Given the description of an element on the screen output the (x, y) to click on. 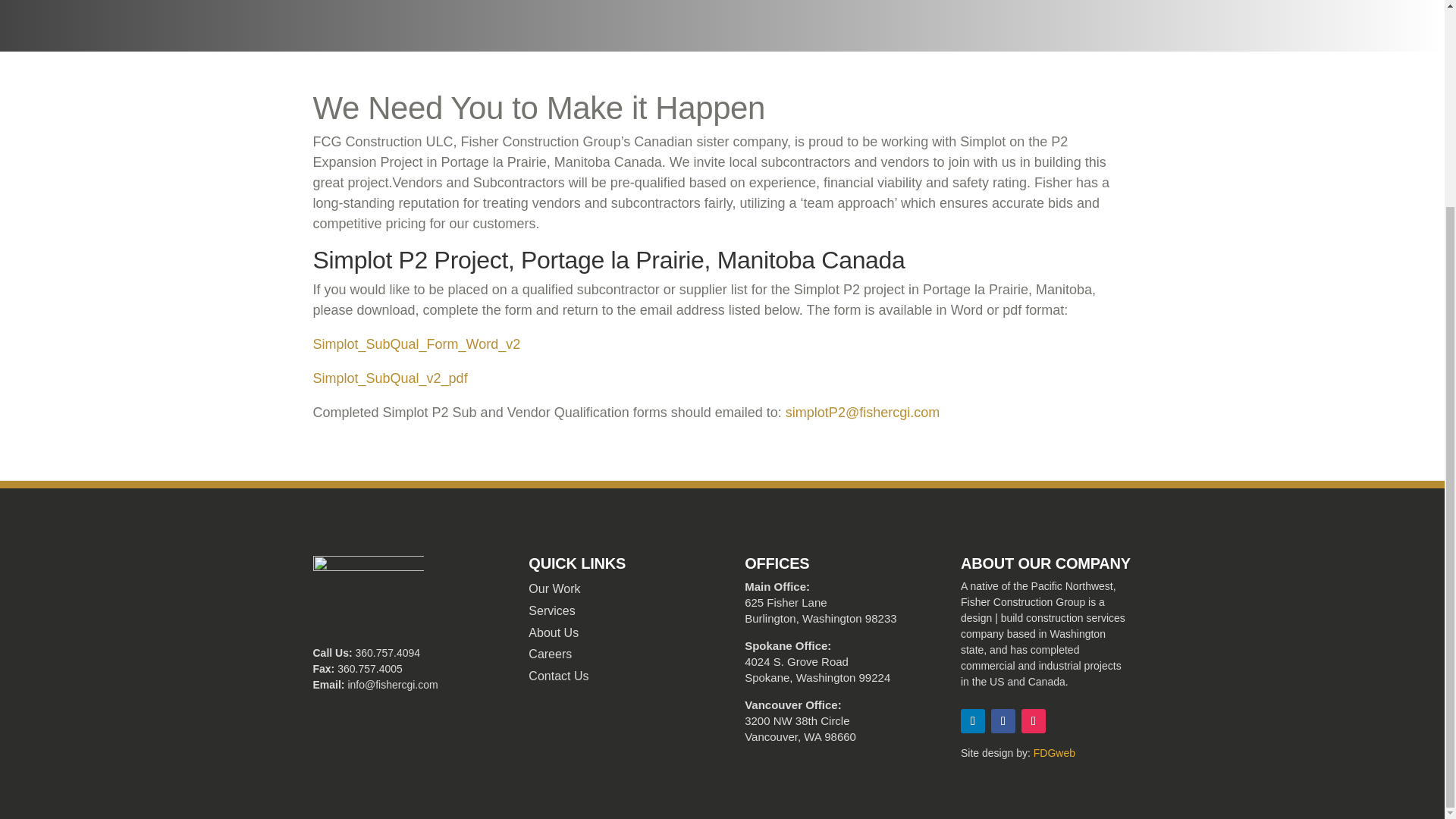
Follow on Facebook (1002, 721)
Follow on Instagram (1033, 721)
Follow (1033, 721)
FDGweb (1054, 752)
fisher-white (368, 587)
Contact Us (558, 675)
Services (551, 610)
Follow (972, 721)
Follow (1002, 721)
Follow on LinkedIn (972, 721)
